Given the description of an element on the screen output the (x, y) to click on. 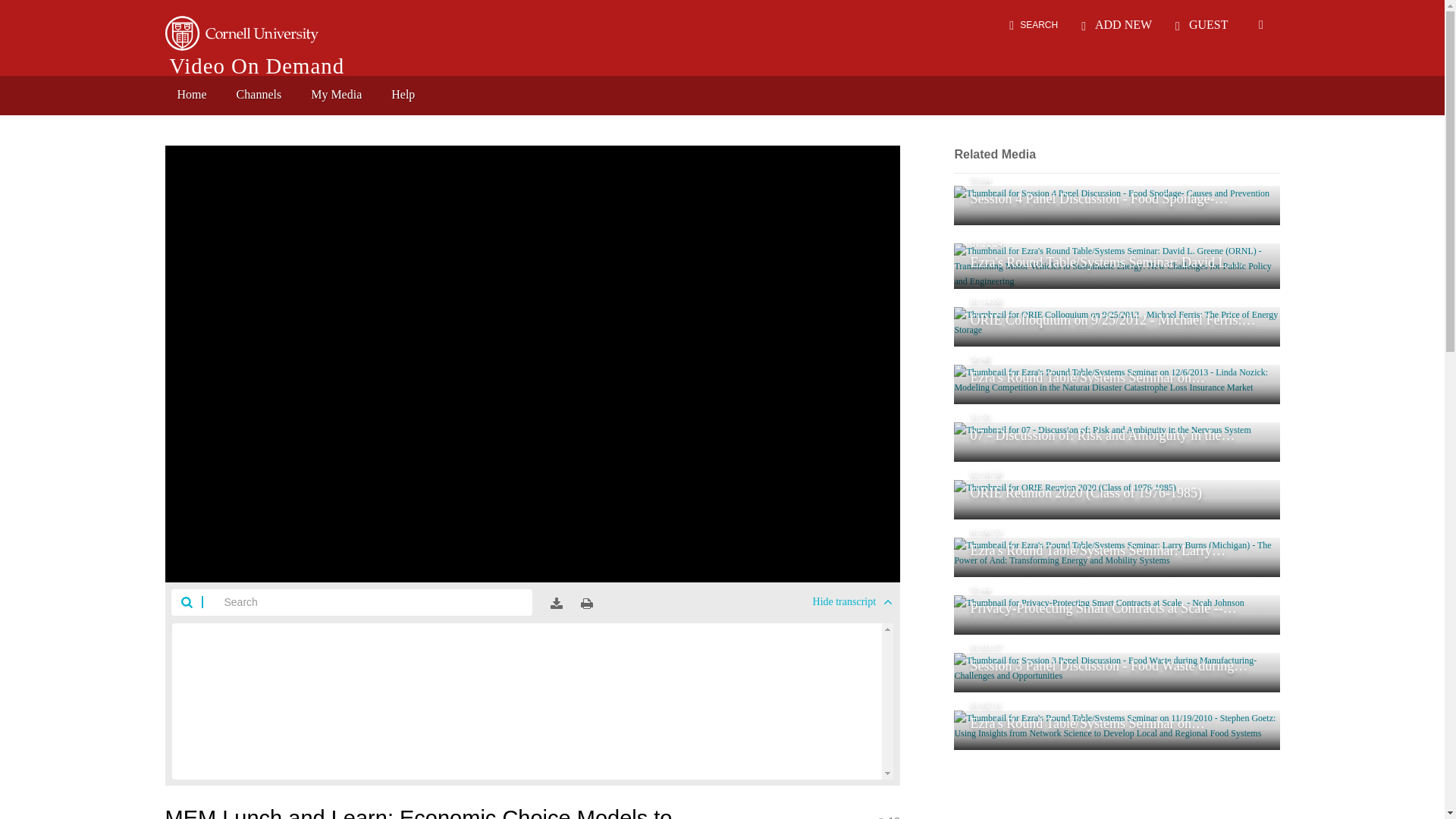
Print (586, 603)
Privacy-Protecting Smart Contracts at Scale -- Noah Johnson (1116, 614)
SEARCH (1032, 23)
07 - Discussion of: Risk and Ambiguity in the Nervous System (1116, 441)
Channels (259, 94)
Home (192, 94)
ADD NEW (1116, 23)
My Media (336, 94)
GUEST (1201, 23)
